Given the description of an element on the screen output the (x, y) to click on. 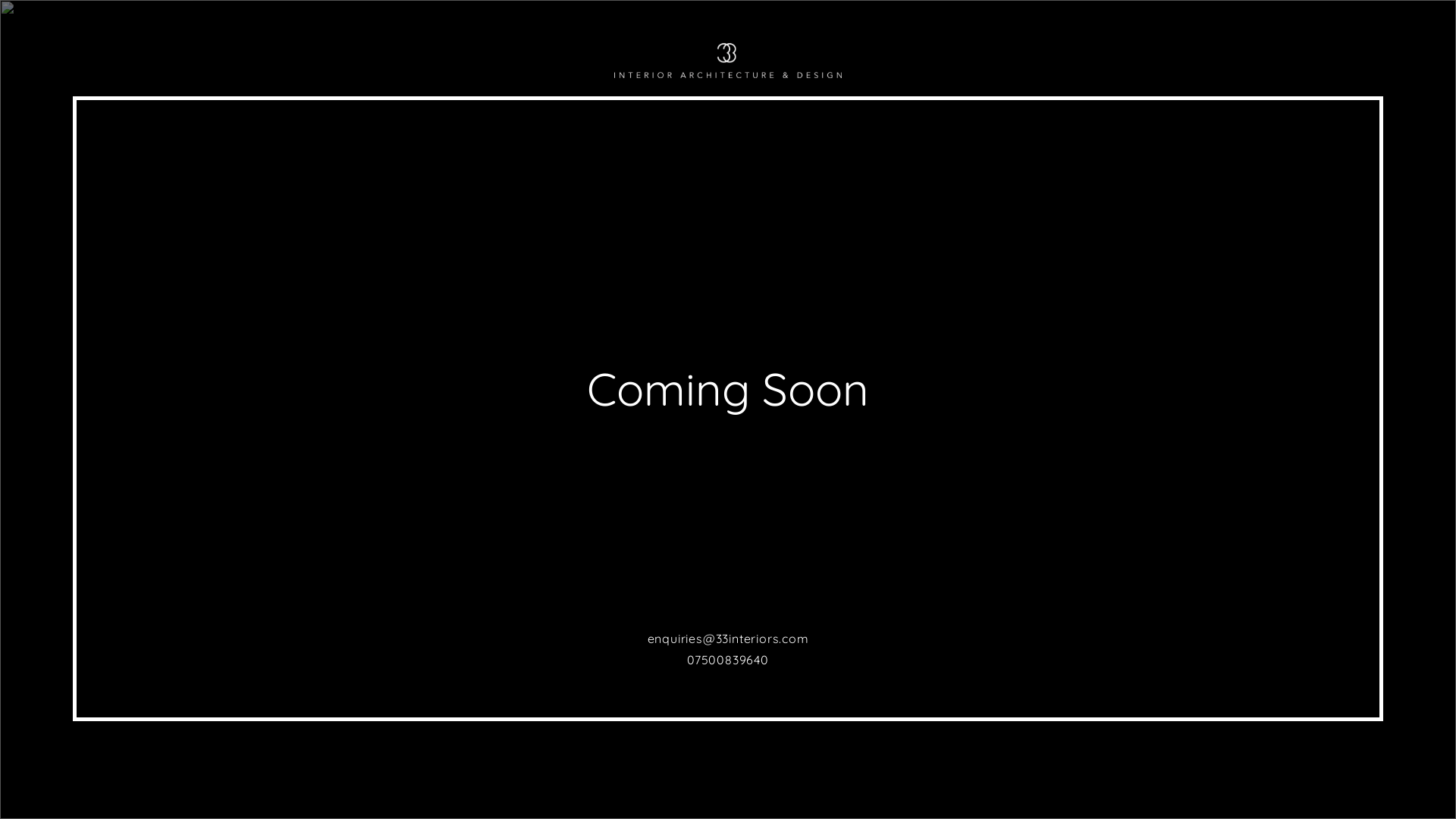
enquiries@33interiors.com Element type: text (727, 638)
07500839640 Element type: text (727, 659)
